Given the description of an element on the screen output the (x, y) to click on. 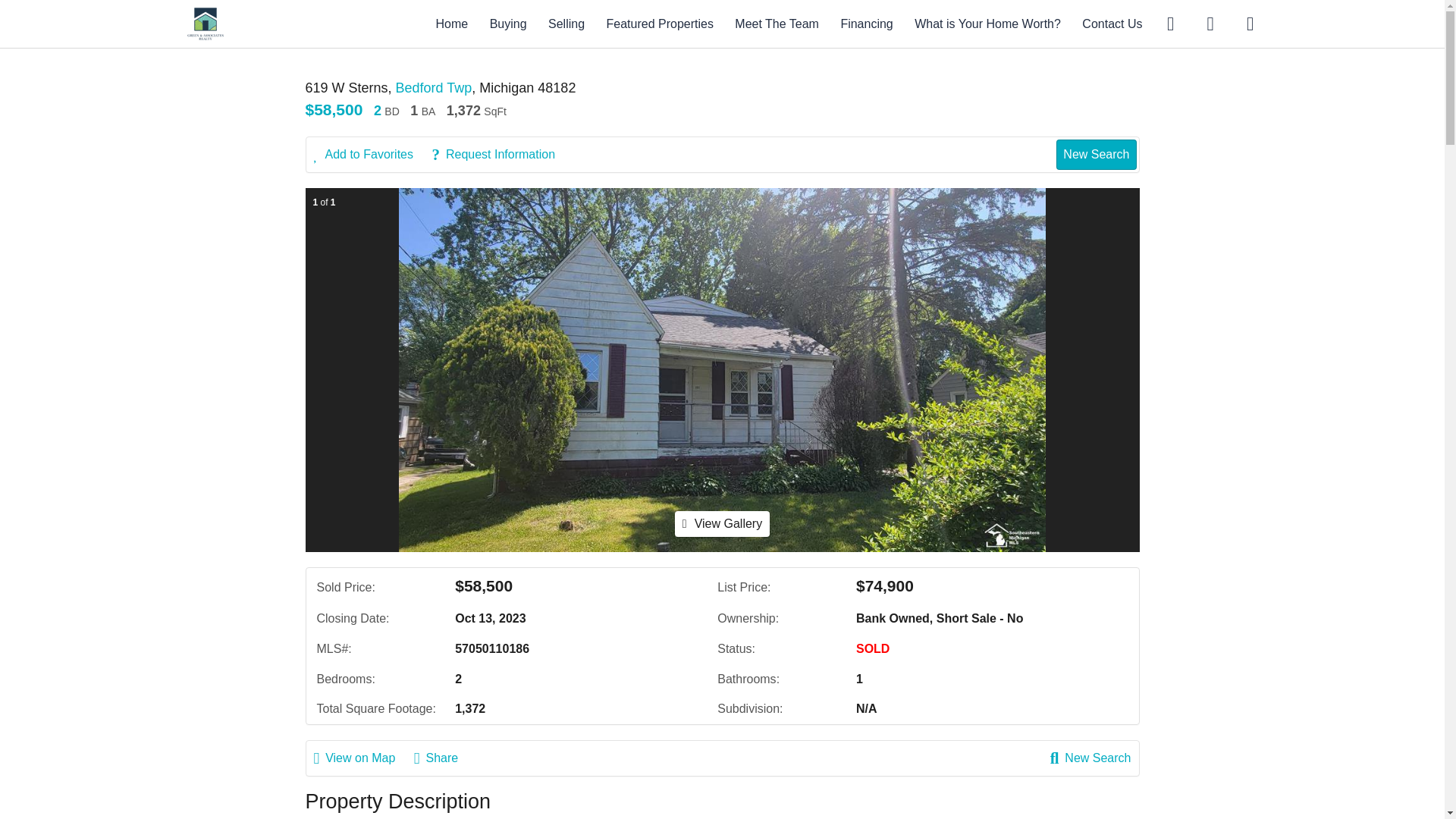
Featured Properties (660, 23)
Add to Favorites (371, 154)
Bedford Twp (433, 87)
View on Map (362, 757)
Request Information (500, 154)
View Gallery (722, 522)
Buying (508, 23)
View Gallery (722, 524)
Contact Us (1111, 23)
New Search (1090, 757)
